Given the description of an element on the screen output the (x, y) to click on. 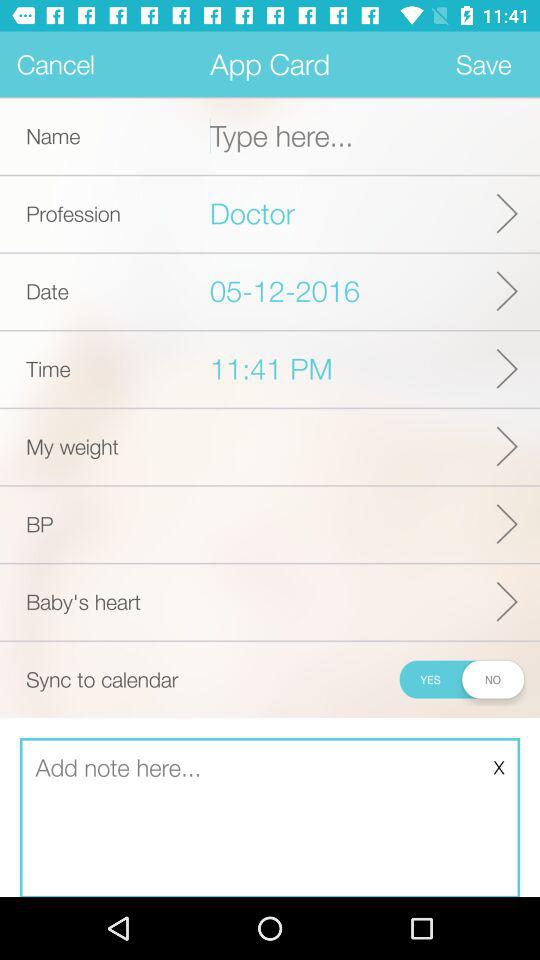
insert text (269, 817)
